Given the description of an element on the screen output the (x, y) to click on. 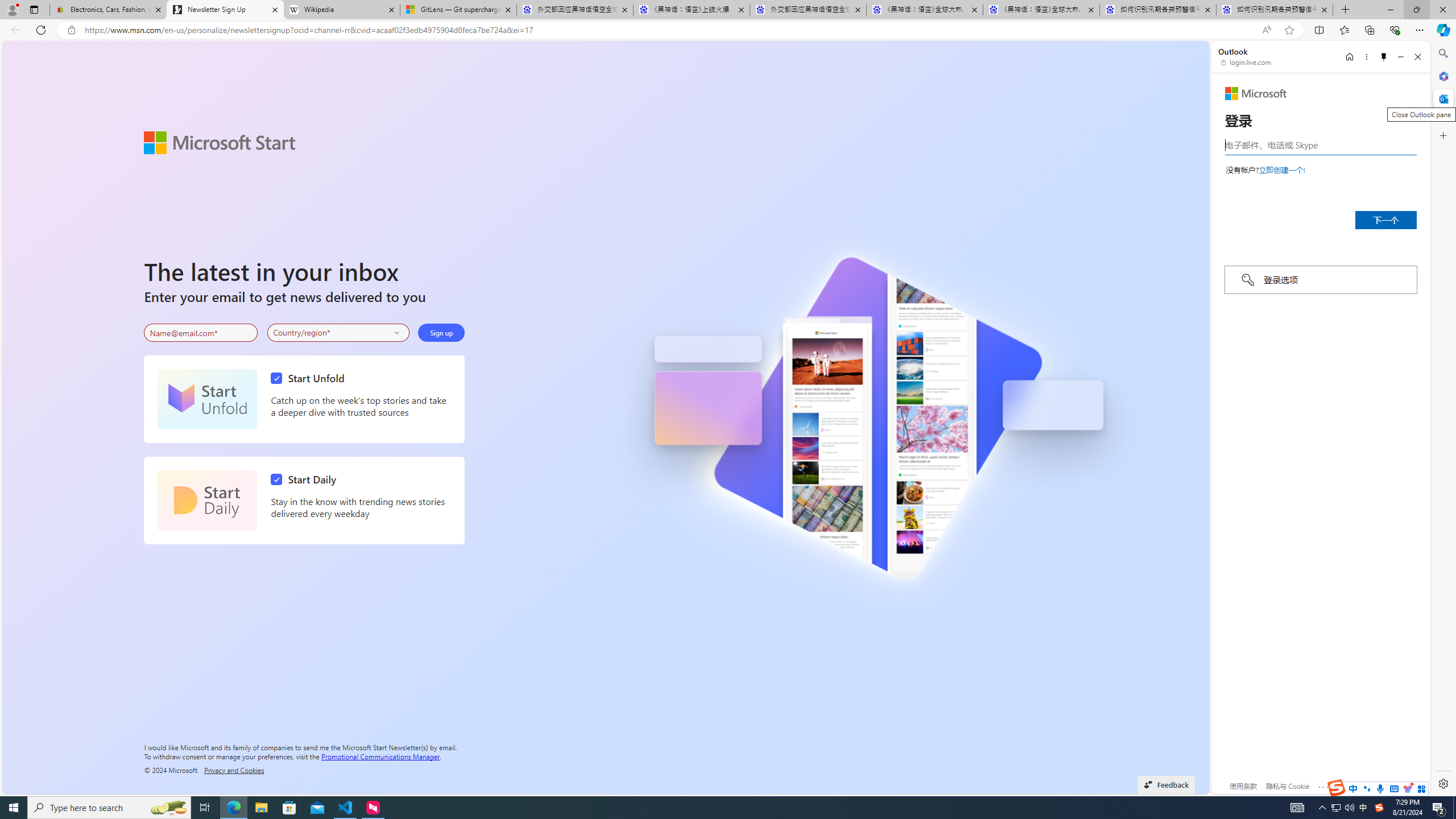
Sign up (441, 332)
Start Daily (306, 479)
Wikipedia (341, 9)
